Given the description of an element on the screen output the (x, y) to click on. 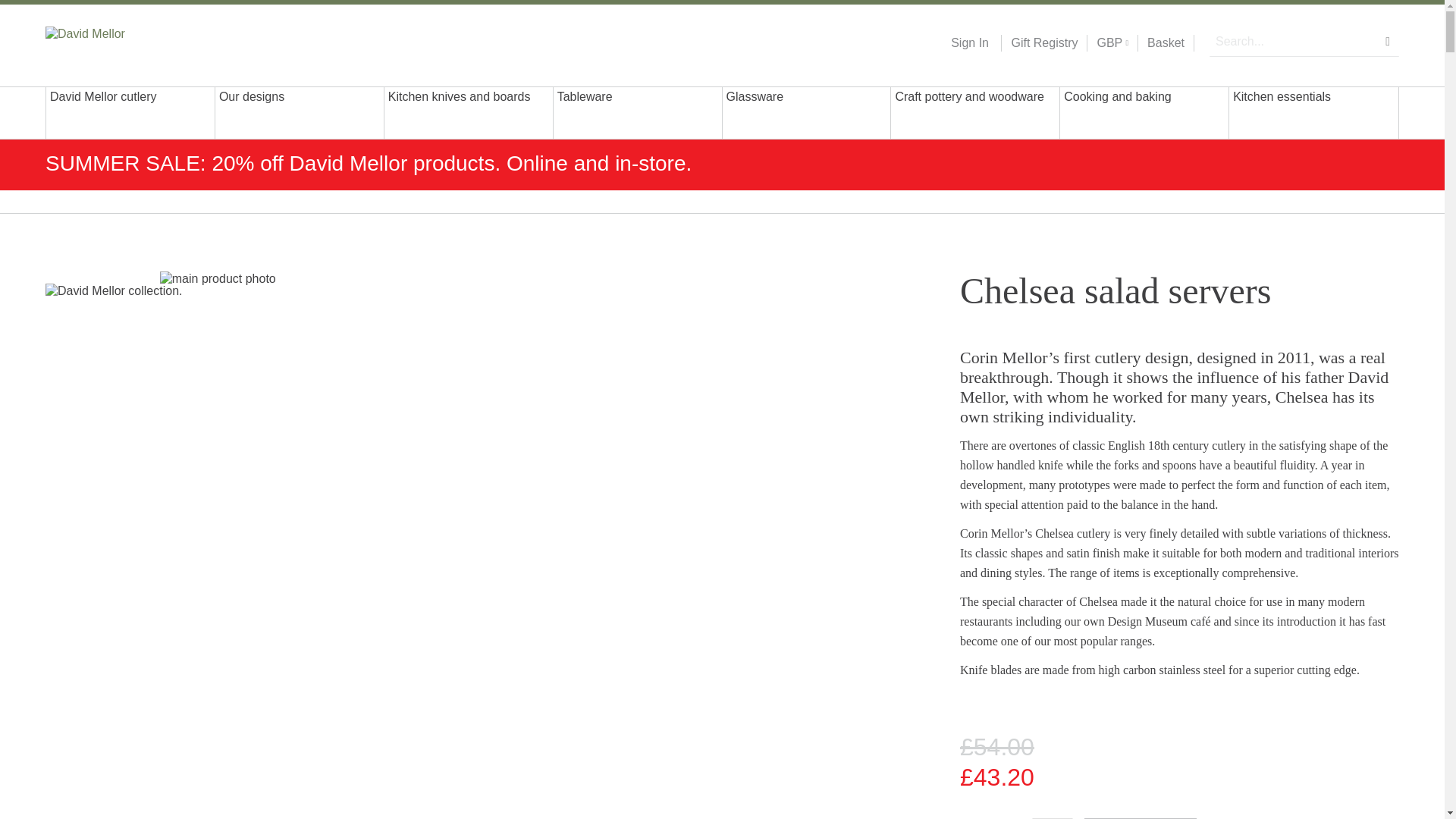
Search (1388, 41)
Sign In (969, 43)
1 (1052, 818)
David Mellor cutlery (130, 112)
Qty (1052, 818)
Basket (1166, 43)
Gift Registry (1039, 43)
Search (1388, 41)
David Mellor (143, 42)
